Given the description of an element on the screen output the (x, y) to click on. 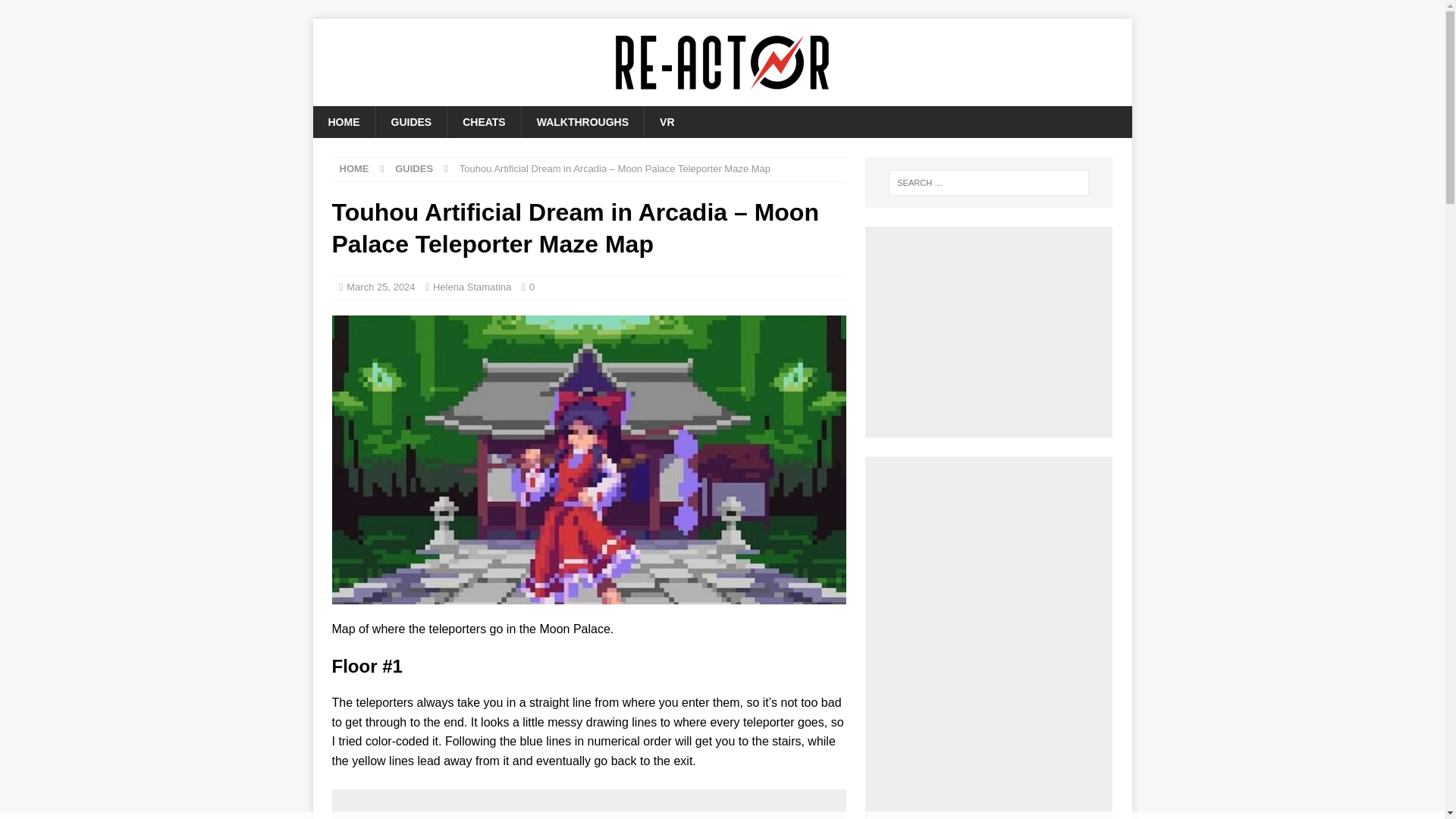
Search (56, 11)
WALKTHROUGHS (582, 122)
GUIDES (413, 168)
March 25, 2024 (380, 286)
VR (665, 122)
HOME (343, 122)
Helena Stamatina (471, 286)
HOME (354, 168)
CHEATS (483, 122)
